Given the description of an element on the screen output the (x, y) to click on. 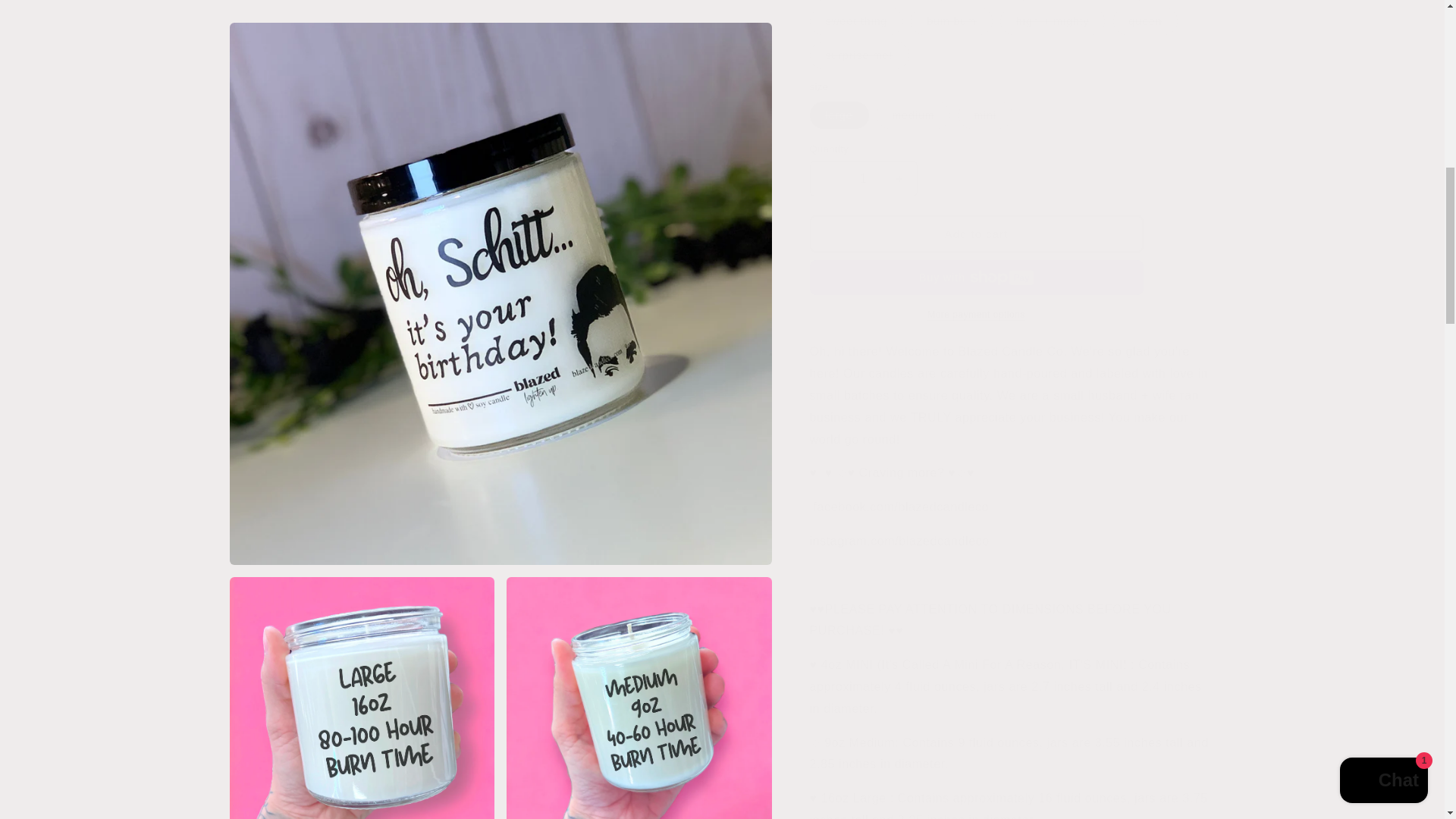
Open media 2 in modal (361, 111)
Open media 3 in modal (638, 111)
Open media 4 in modal (361, 366)
